Given the description of an element on the screen output the (x, y) to click on. 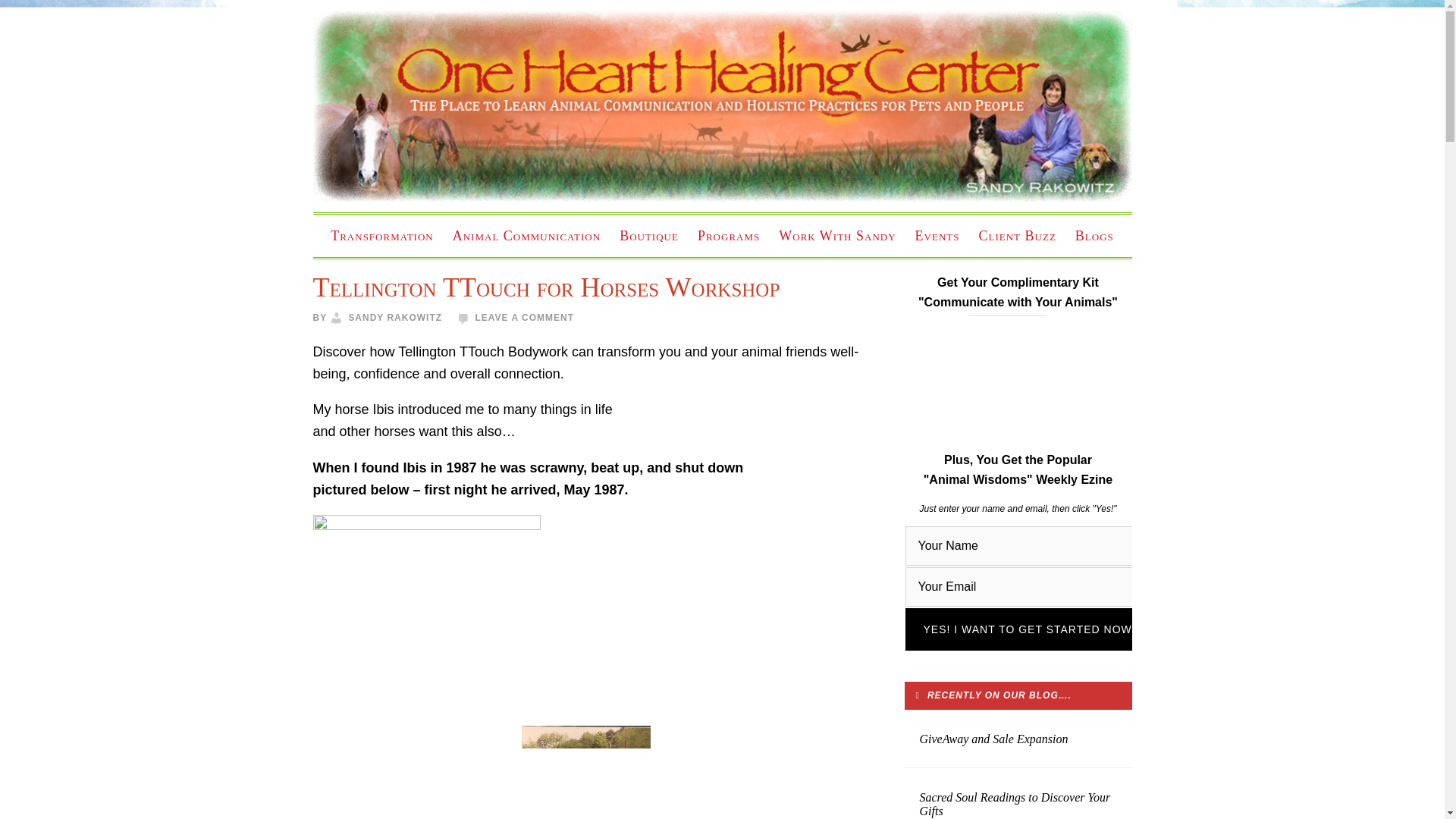
Blogs (1094, 235)
Client Buzz (1016, 235)
Animal Communication (526, 235)
Yes! I want to Get Started NOW! (1029, 629)
Your Name (1029, 545)
Events (937, 235)
Programs (728, 235)
SANDY RAKOWITZ (394, 317)
Your Email (1029, 586)
LEAVE A COMMENT (523, 317)
Work With Sandy (836, 235)
Transformation (382, 235)
Boutique (648, 235)
